Given the description of an element on the screen output the (x, y) to click on. 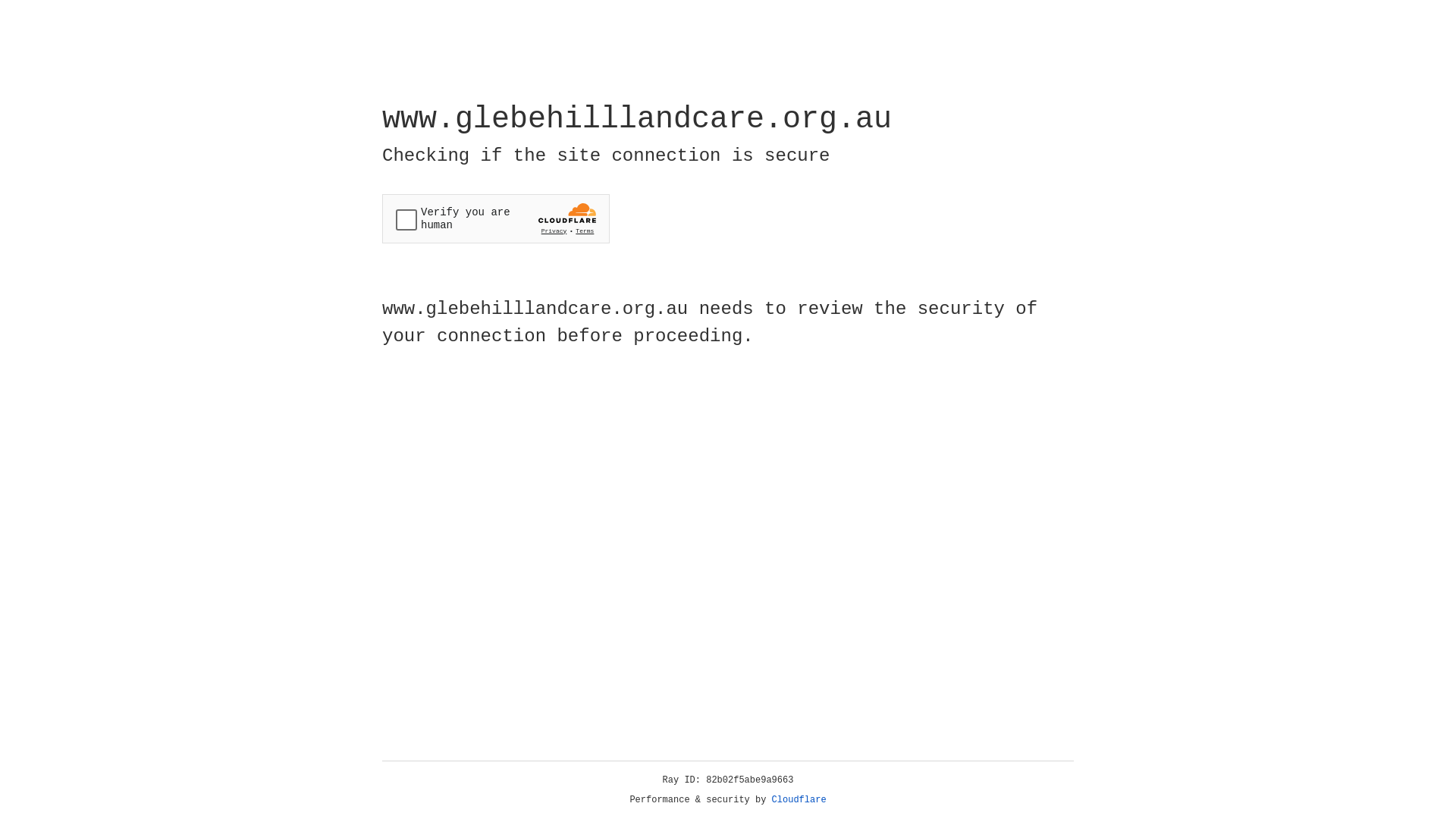
Widget containing a Cloudflare security challenge Element type: hover (495, 218)
Cloudflare Element type: text (798, 799)
